Given the description of an element on the screen output the (x, y) to click on. 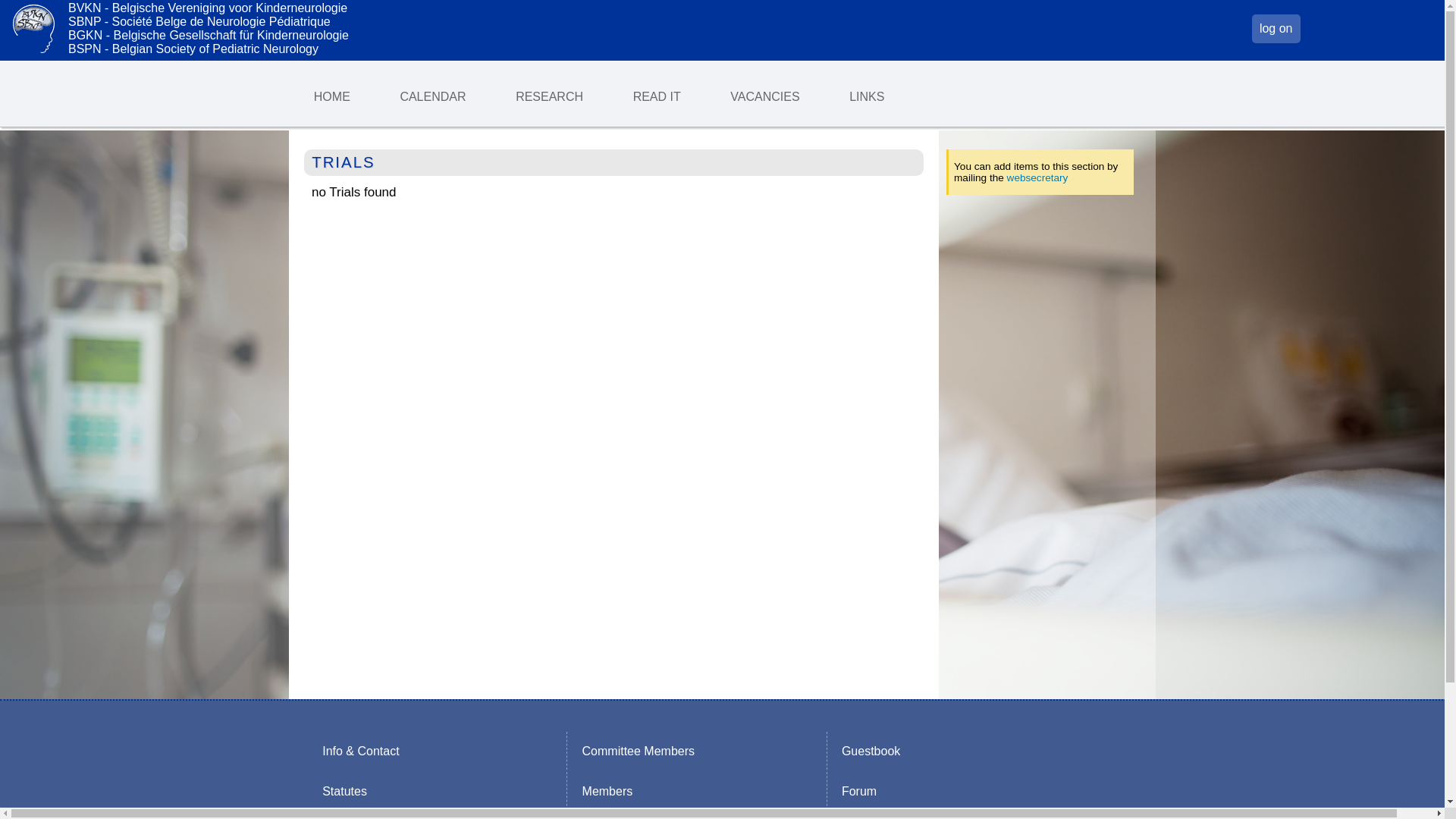
Info & Contact Element type: text (360, 750)
READ IT Element type: text (656, 94)
Members Element type: text (606, 790)
websecretary Element type: text (1037, 177)
LINKS Element type: text (866, 94)
RESEARCH Element type: text (549, 94)
VACANCIES Element type: text (765, 94)
HOME Element type: text (332, 94)
Forum Element type: text (859, 790)
Committee Members Element type: text (637, 750)
log on Element type: text (1276, 28)
Statutes Element type: text (344, 790)
Guestbook Element type: text (871, 750)
CALENDAR Element type: text (433, 94)
